Given the description of an element on the screen output the (x, y) to click on. 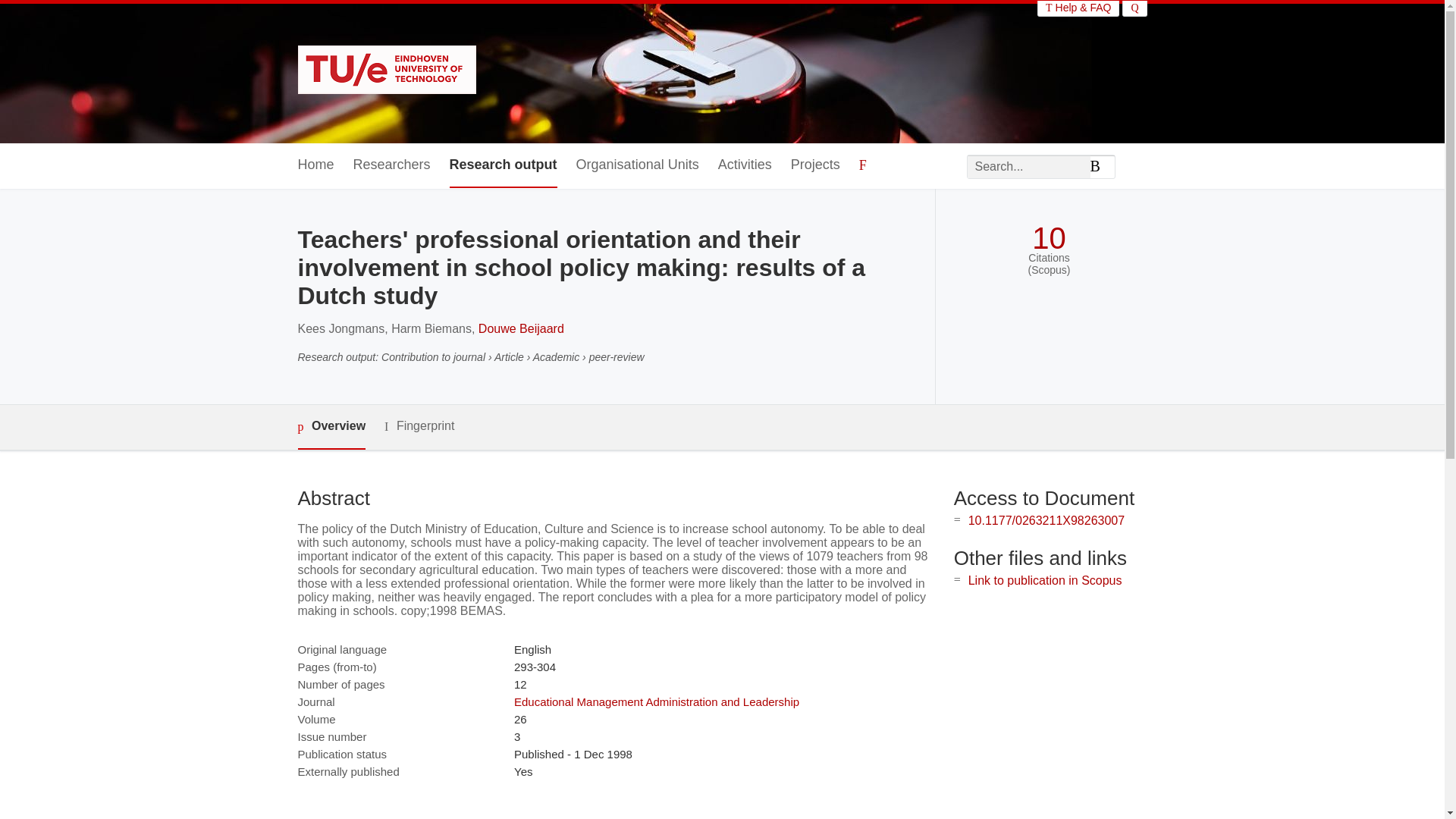
10 (1048, 238)
Research output (503, 165)
Educational Management Administration and Leadership (656, 701)
Researchers (391, 165)
Link to publication in Scopus (1045, 580)
Douwe Beijaard (521, 328)
Projects (815, 165)
Overview (331, 426)
Organisational Units (637, 165)
